Given the description of an element on the screen output the (x, y) to click on. 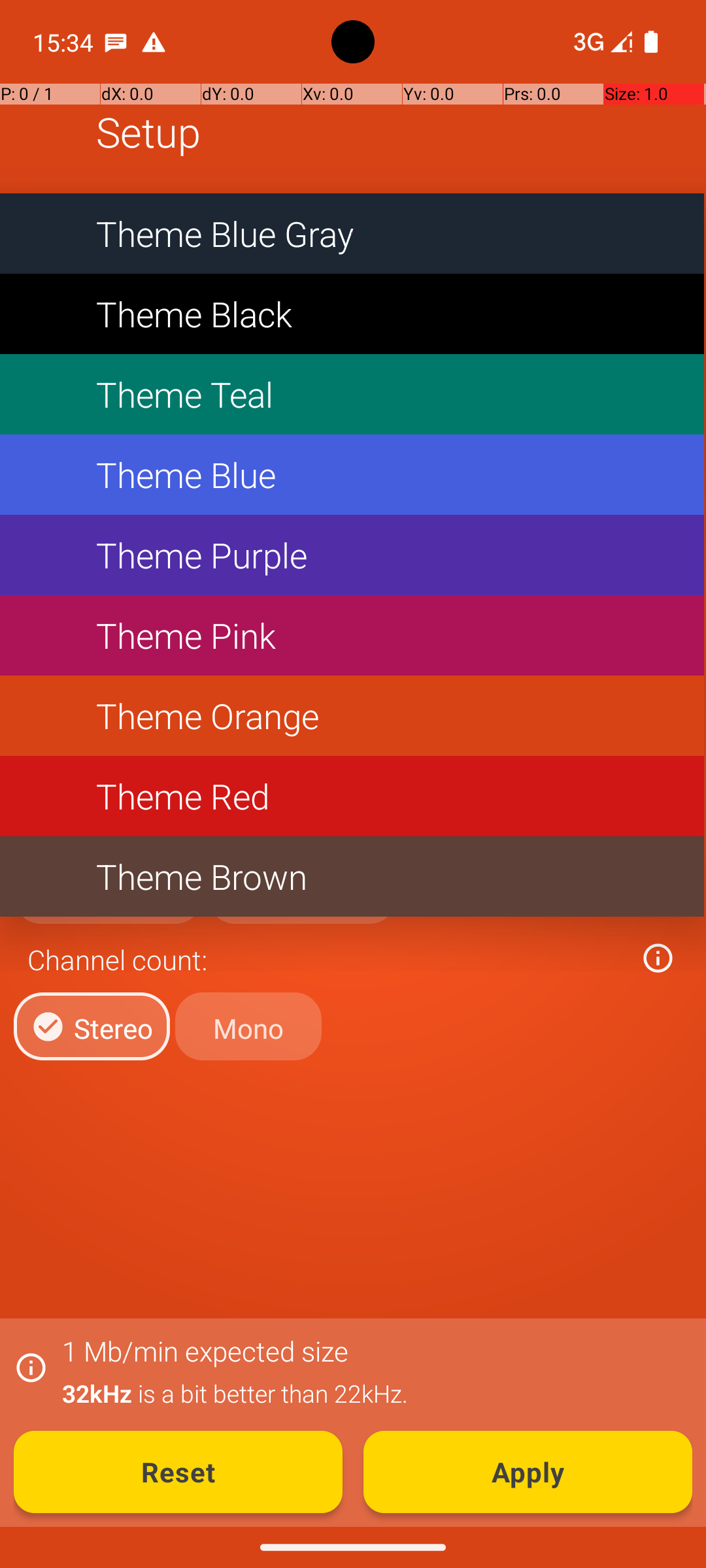
Theme Blue Gray Element type: android.widget.TextView (352, 233)
Theme Black Element type: android.widget.TextView (352, 313)
Theme Teal Element type: android.widget.TextView (352, 394)
Theme Blue Element type: android.widget.TextView (352, 474)
Theme Purple Element type: android.widget.TextView (352, 554)
Theme Pink Element type: android.widget.TextView (352, 635)
Theme Orange Element type: android.widget.TextView (352, 715)
Theme Red Element type: android.widget.TextView (352, 795)
Theme Brown Element type: android.widget.TextView (352, 876)
15:34 Element type: android.widget.TextView (64, 41)
SMS Messenger notification:  Element type: android.widget.ImageView (115, 41)
Android System notification: Data warning Element type: android.widget.ImageView (153, 41)
Phone two bars. Element type: android.widget.FrameLayout (600, 41)
Battery 100 percent. Element type: android.widget.LinearLayout (650, 41)
No internet Element type: android.widget.ImageView (587, 41)
